Given the description of an element on the screen output the (x, y) to click on. 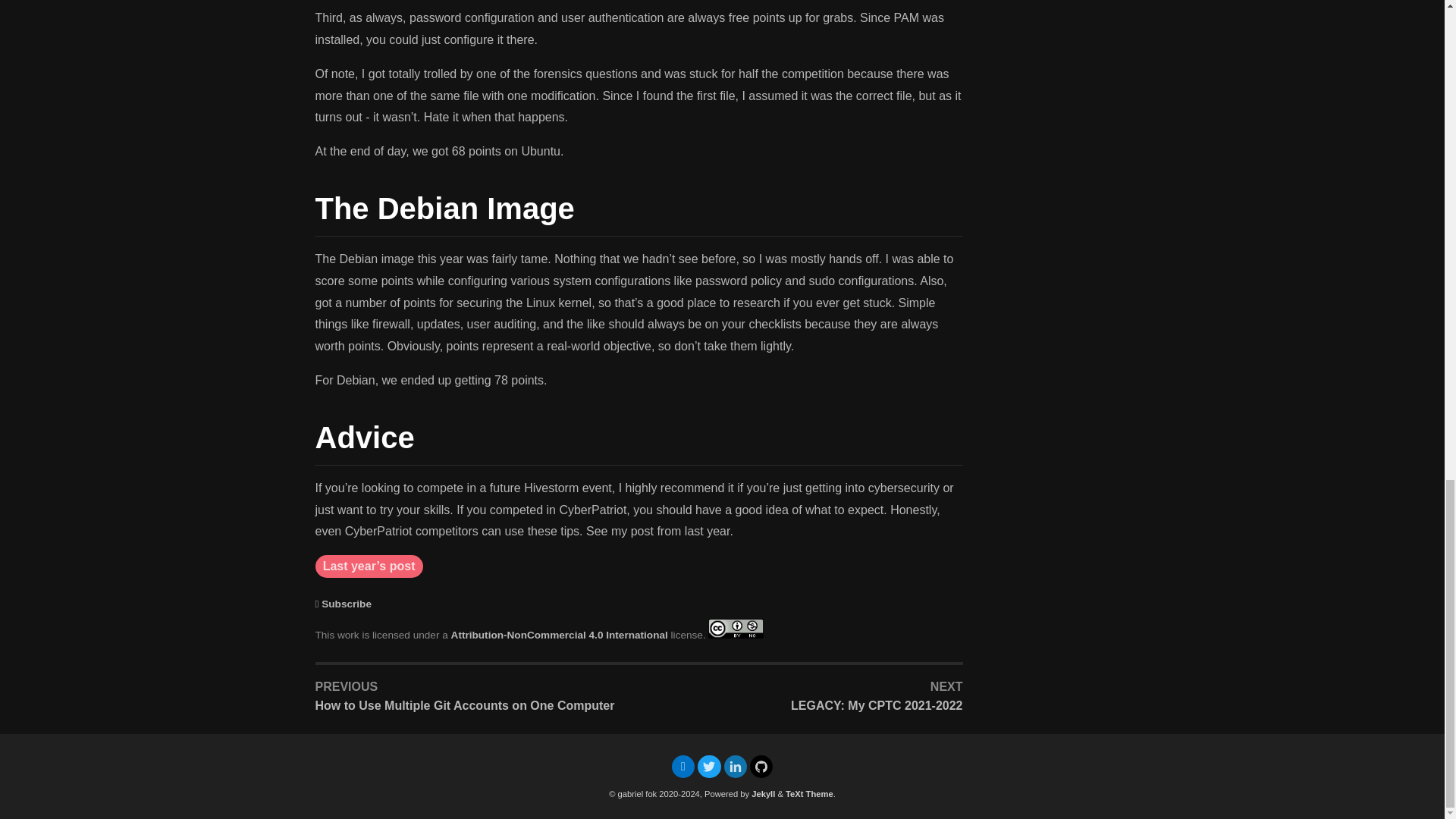
Follow me on Github. (761, 766)
TeXt is a super customizable Jekyll theme. (809, 793)
Jekyll (762, 793)
How to Use Multiple Git Accounts on One Computer (474, 705)
Subscribe (346, 603)
TeXt Theme (809, 793)
Follow me on Twitter. (708, 766)
Follow me on Linkedin. (734, 766)
Attribution-NonCommercial 4.0 International (559, 634)
Send me an Email. (682, 766)
Jekyll is a simple, blog-aware, static site generator. (762, 793)
LEGACY: My CPTC 2021-2022 (803, 705)
